Given the description of an element on the screen output the (x, y) to click on. 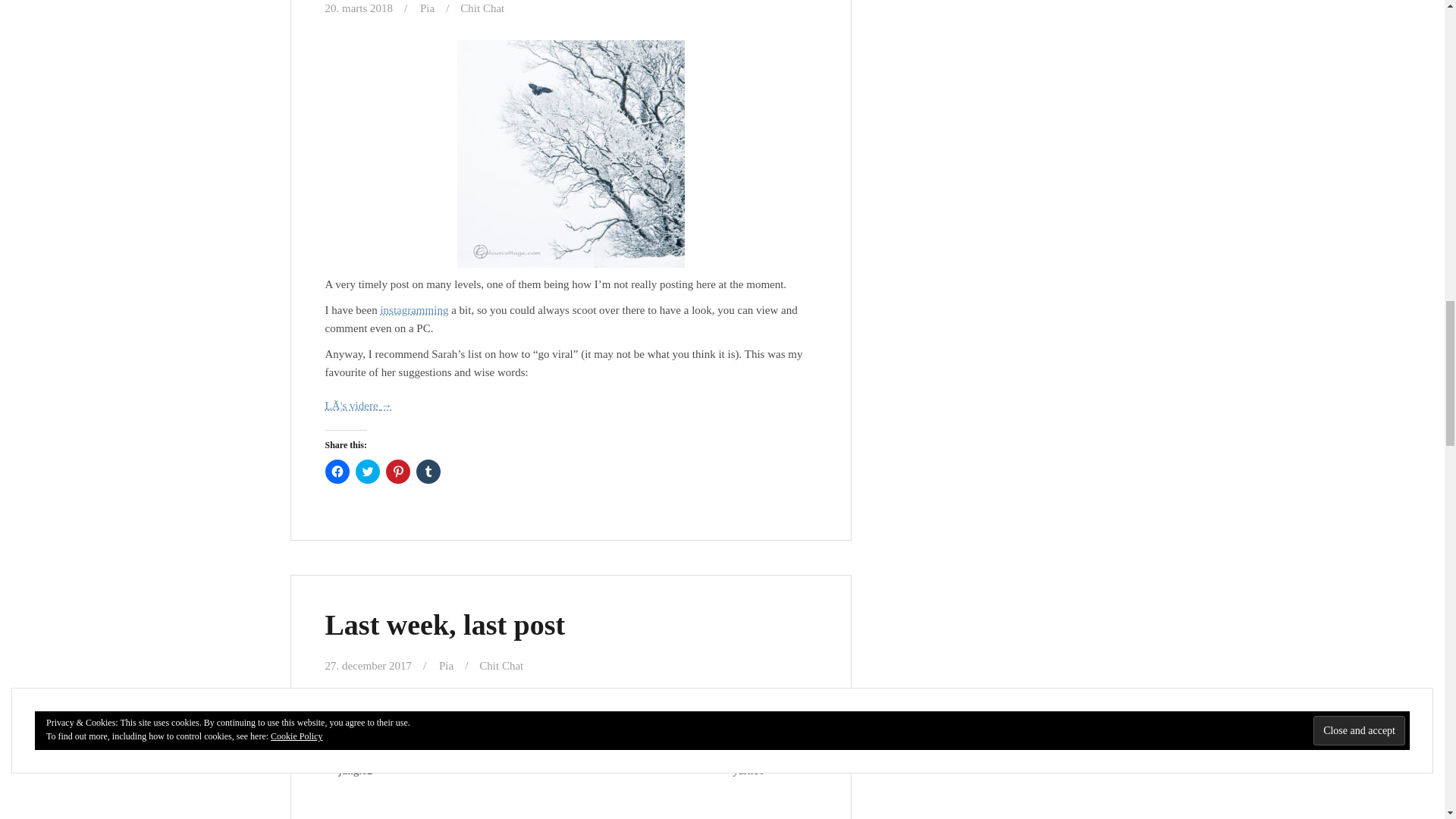
Chit Chat (481, 8)
Click to share on Tumblr (426, 471)
instagramming (414, 309)
Click to share on Pinterest (397, 471)
Click to share on Facebook (336, 471)
Pia (426, 8)
20. marts 2018 (358, 8)
Click to share on Twitter (366, 471)
